Given the description of an element on the screen output the (x, y) to click on. 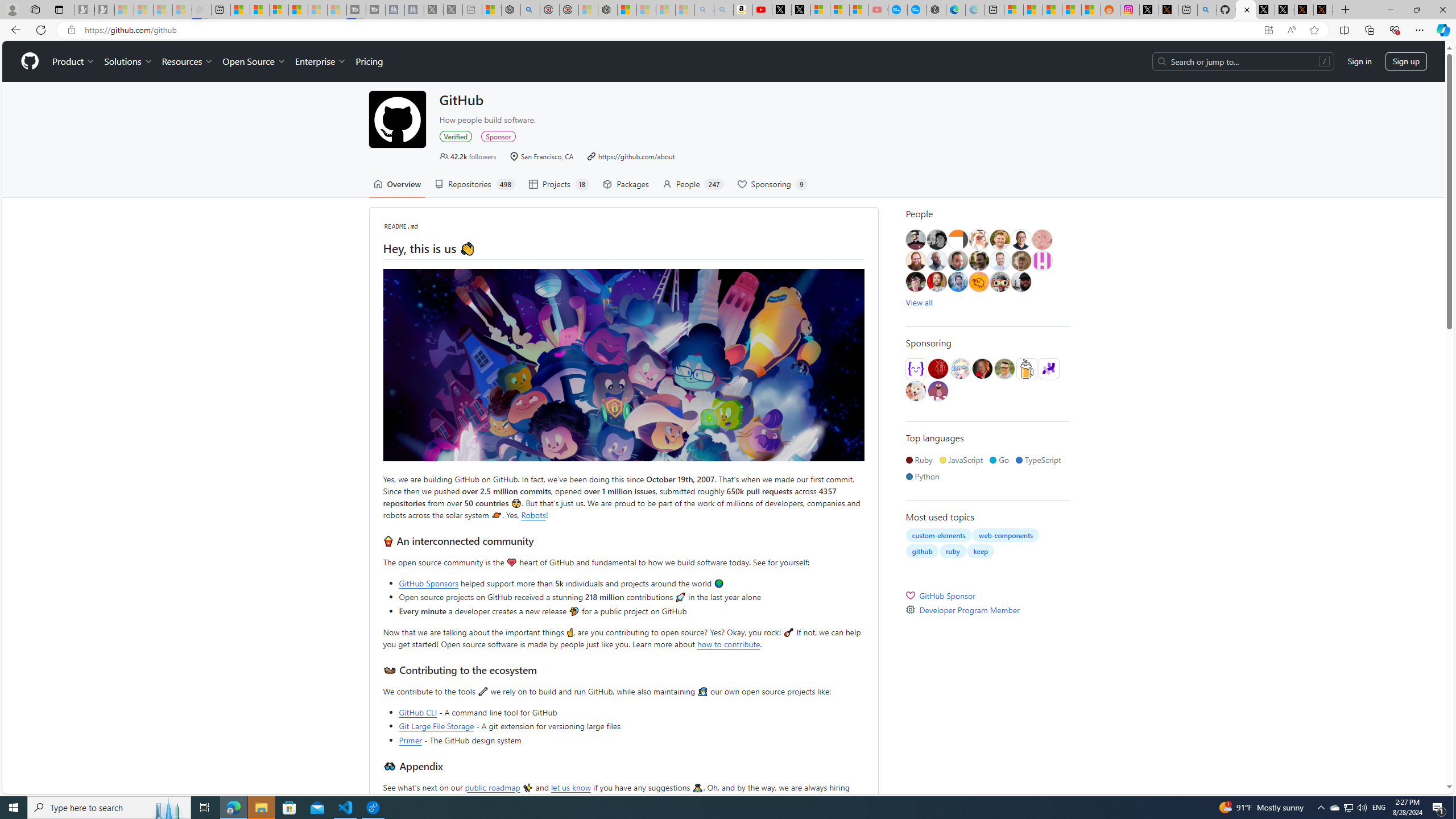
Resources (187, 60)
X Privacy Policy (1323, 9)
Primer - The GitHub design system (631, 739)
@zx2c4 (937, 390)
Packages (625, 184)
@tma (1000, 260)
@sindresorhus (915, 390)
San Francisco, CA (541, 156)
Packages (625, 184)
@look (957, 281)
@kivikakk (959, 368)
Verified (456, 136)
